Given the description of an element on the screen output the (x, y) to click on. 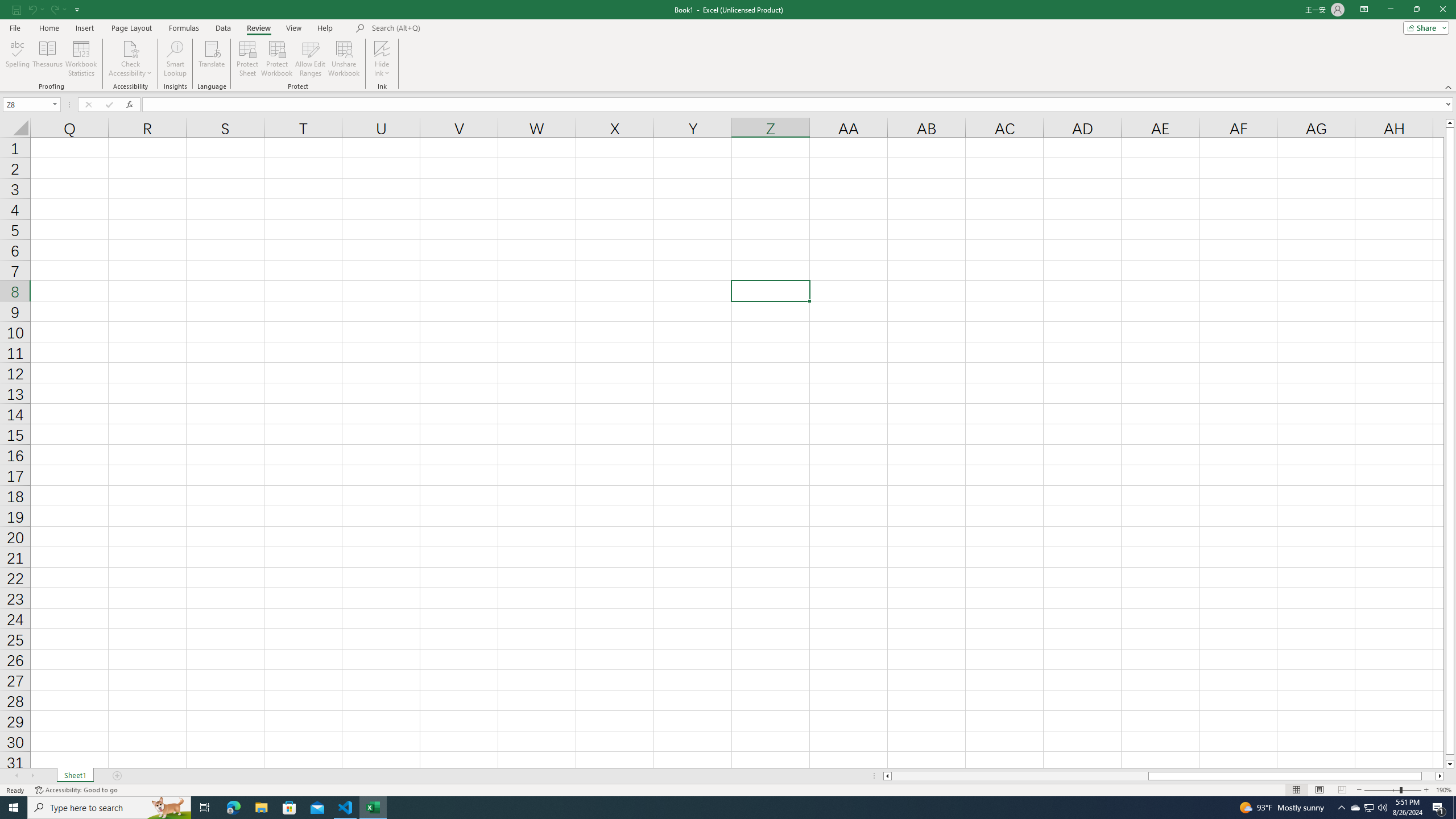
Spelling... (17, 58)
